Given the description of an element on the screen output the (x, y) to click on. 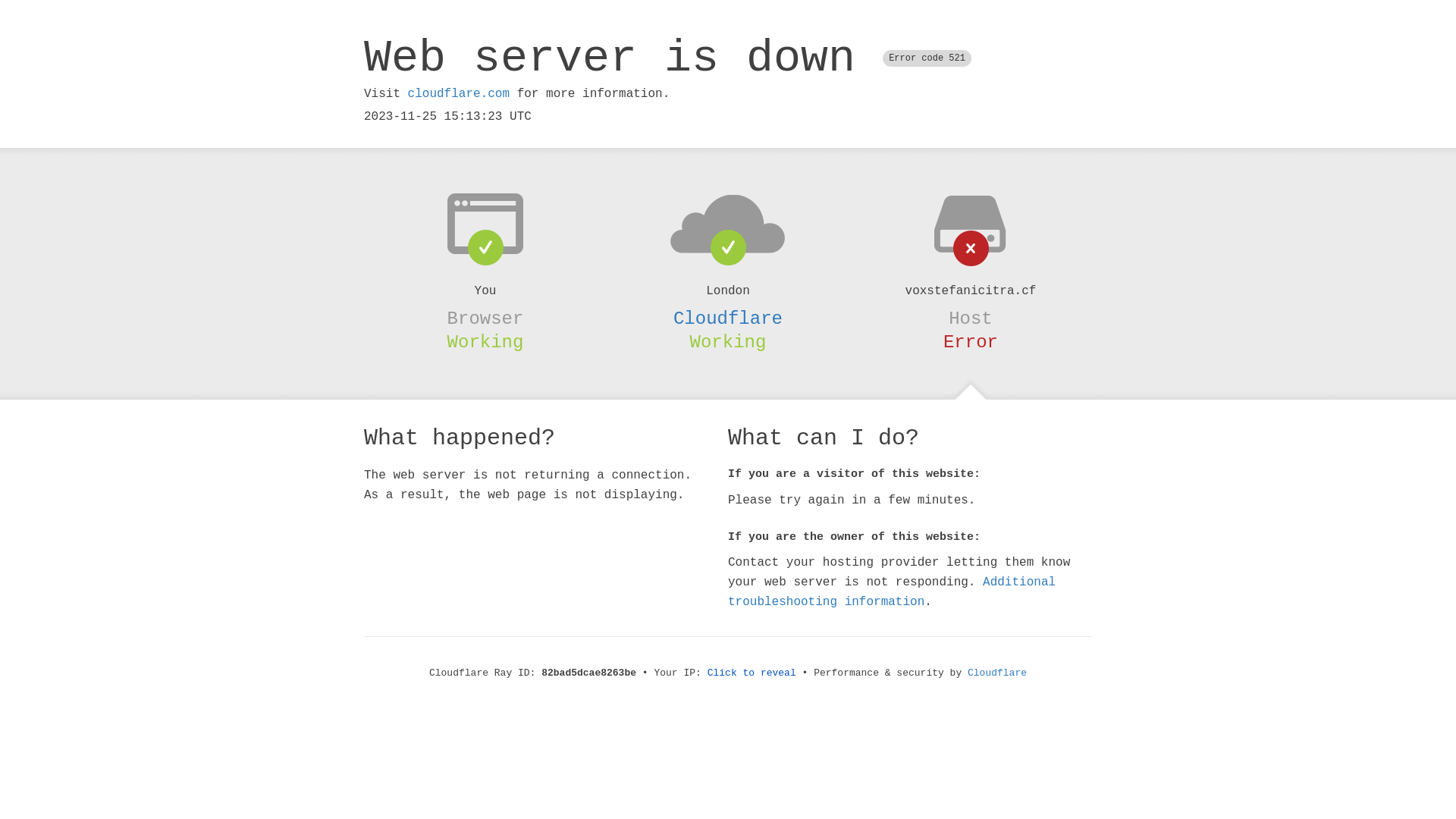
Additional troubleshooting information Element type: text (891, 591)
Click to reveal Element type: text (751, 672)
cloudflare.com Element type: text (458, 93)
Cloudflare Element type: text (996, 672)
Cloudflare Element type: text (727, 318)
